Given the description of an element on the screen output the (x, y) to click on. 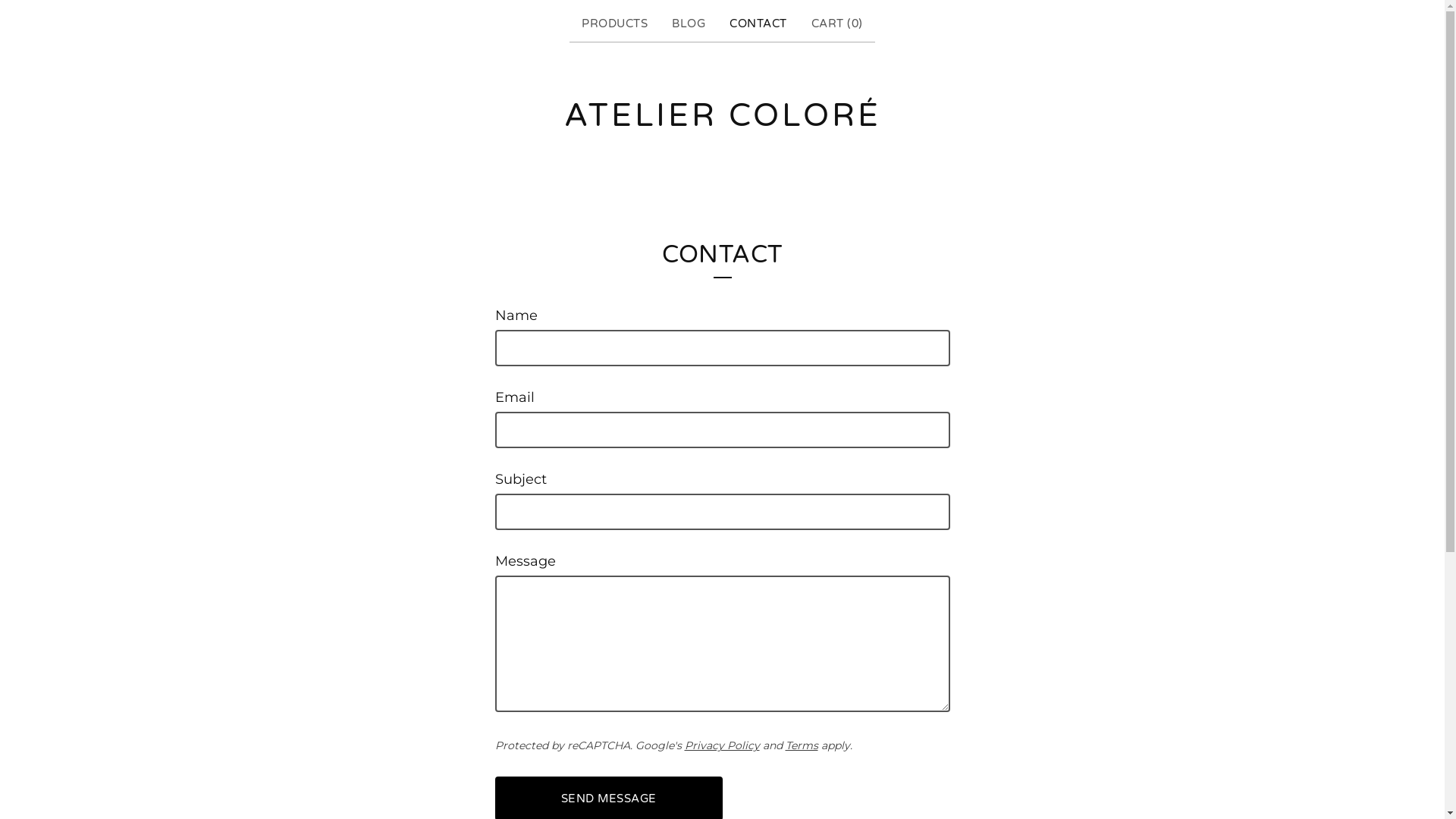
PRODUCTS Element type: text (614, 23)
Terms Element type: text (801, 745)
CONTACT Element type: text (758, 23)
CART (0) Element type: text (837, 23)
BLOG Element type: text (688, 23)
Privacy Policy Element type: text (721, 745)
